Given the description of an element on the screen output the (x, y) to click on. 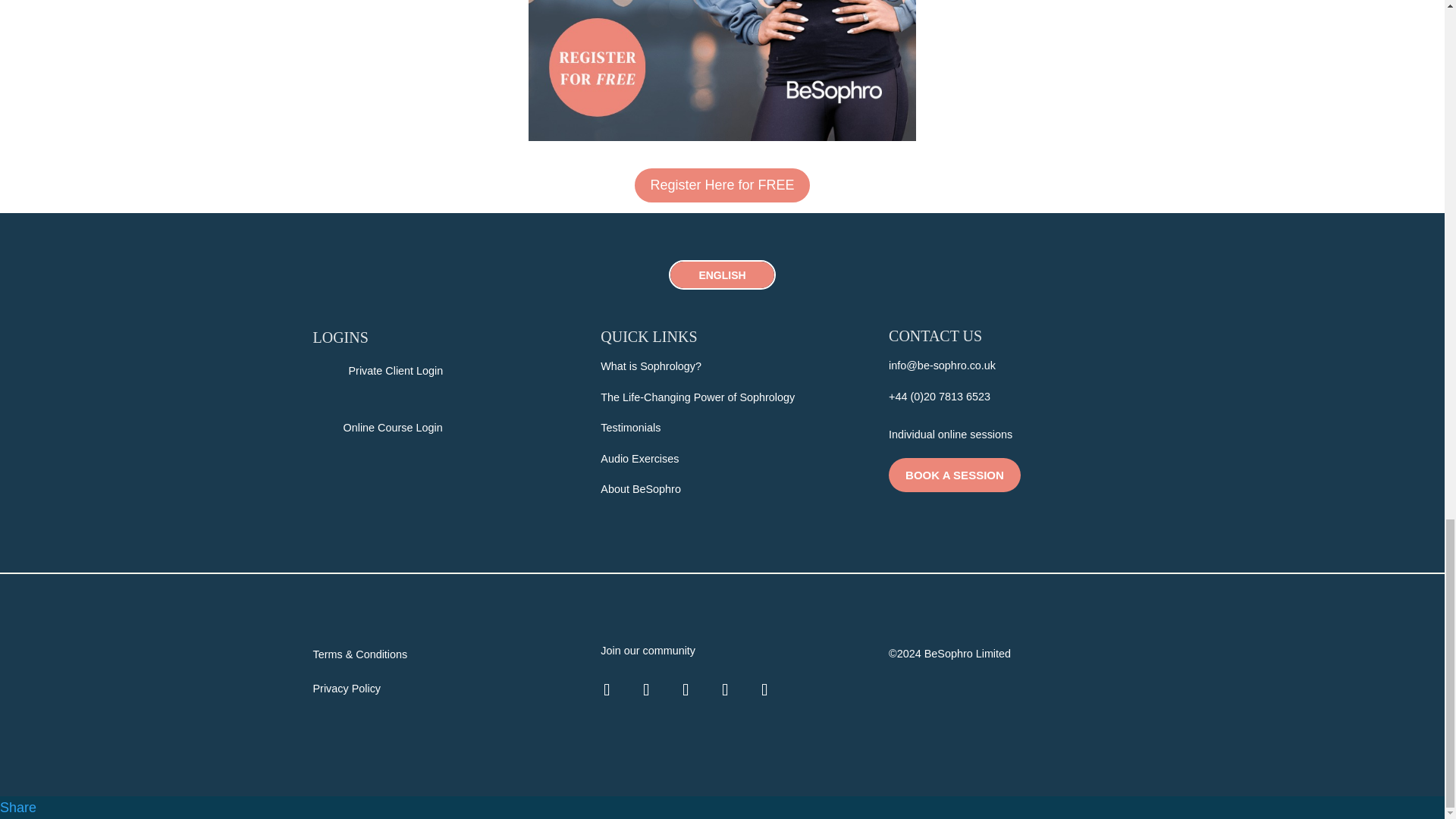
Follow on Facebook (606, 689)
Follow on X (684, 689)
The Life-Changing Power of Sophrology (696, 397)
Follow on Youtube (764, 689)
Follow on LinkedIn (724, 689)
Testimonials (630, 427)
About BeSophro (640, 489)
Follow on Instagram (645, 689)
ENGLISH (721, 274)
Audio Exercises (638, 458)
What is Sophrology? (650, 366)
10-Minute Daily Empowerment (721, 70)
Register Here for FREE (721, 185)
